Given the description of an element on the screen output the (x, y) to click on. 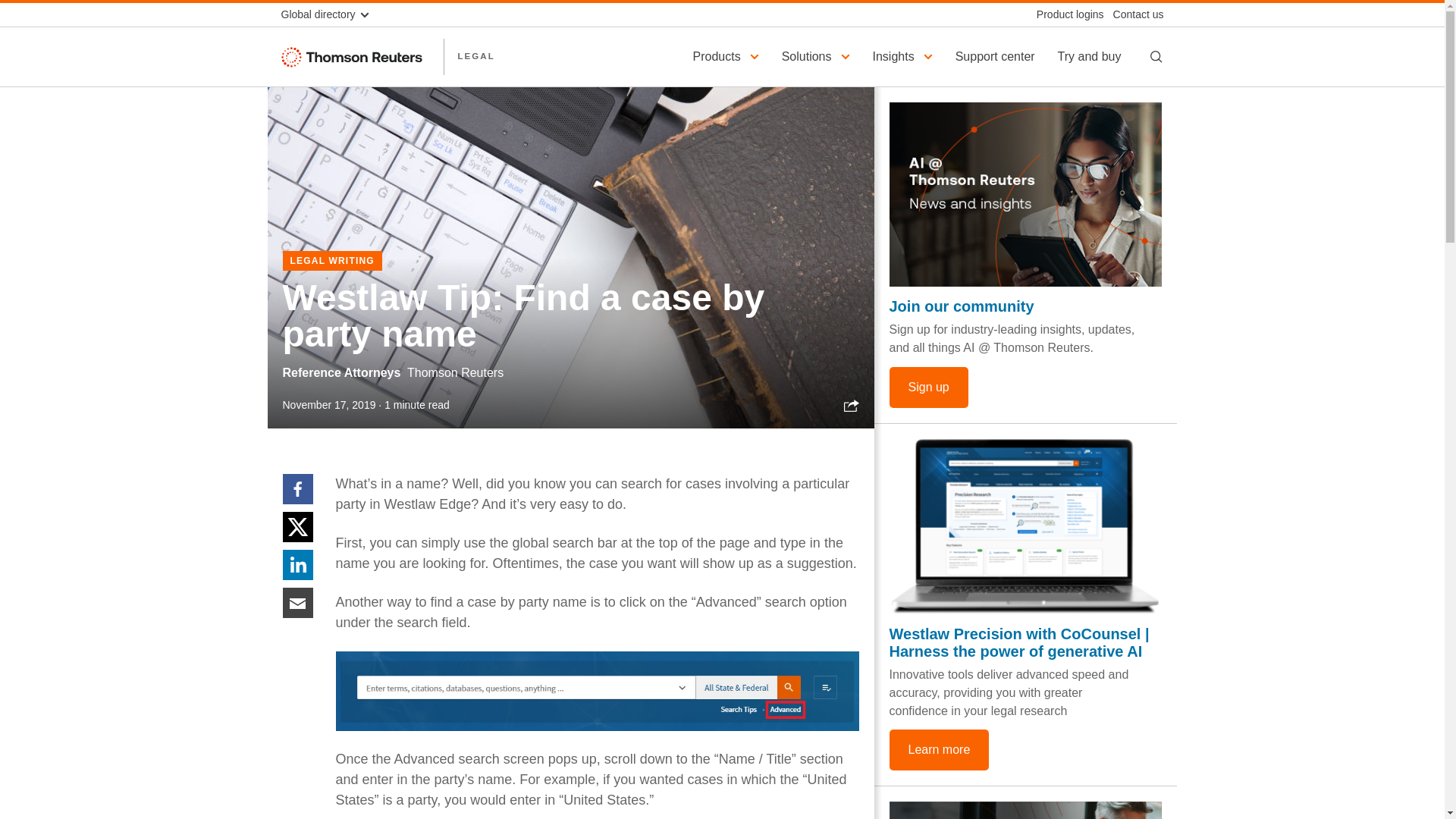
Thomson Reuters (355, 56)
LEGAL (475, 56)
Products (728, 56)
Twitter (297, 525)
Contact us (1133, 14)
November 17, 2019 (328, 404)
Insights (904, 56)
Solutions (818, 56)
Email (297, 601)
Facebook (297, 487)
Linkedin (297, 563)
Global directory (331, 14)
Product logins (1065, 14)
Westlaw Precision laptop (1024, 526)
